Given the description of an element on the screen output the (x, y) to click on. 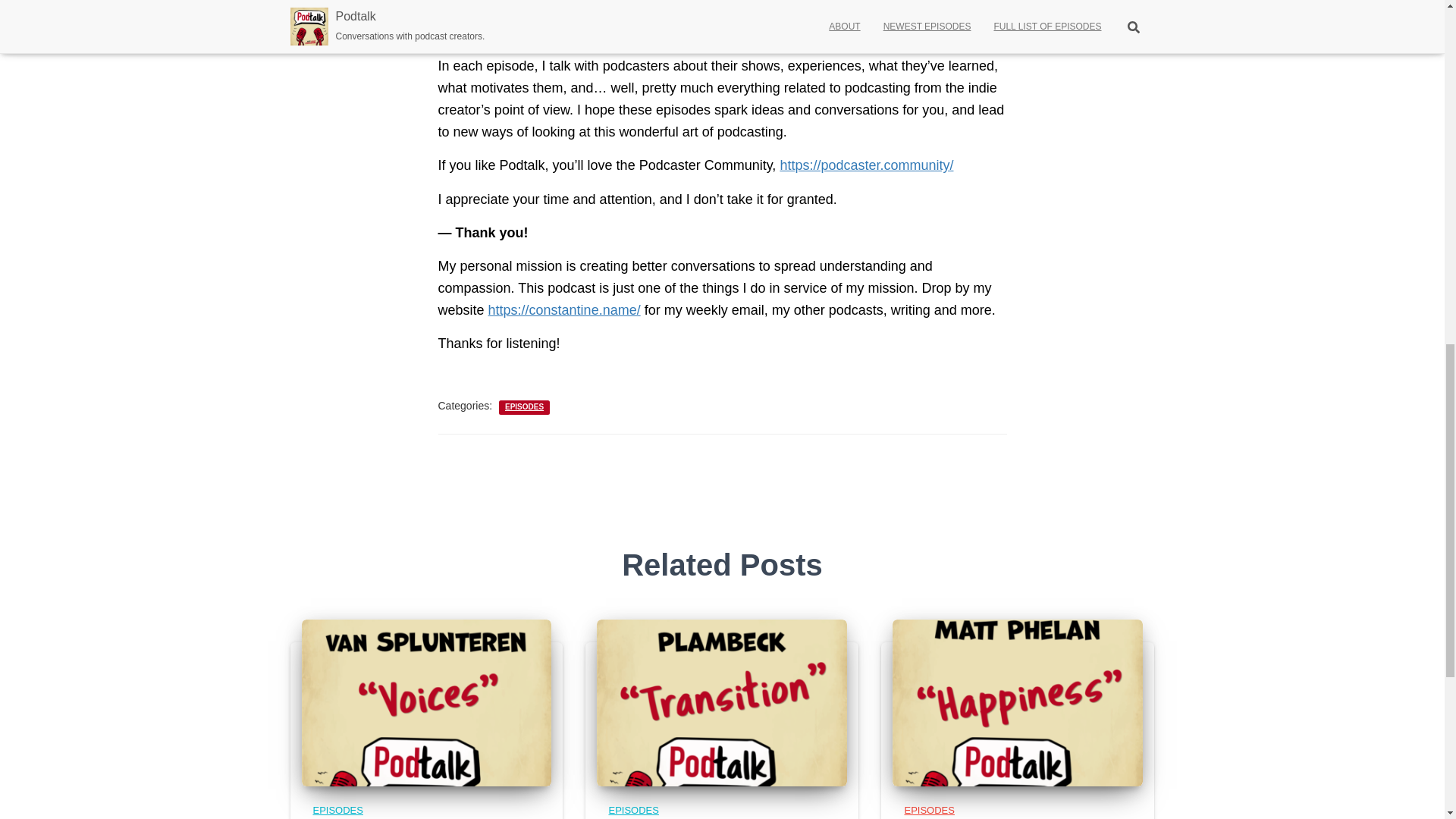
EPISODES (523, 407)
EPISODES (337, 809)
